Given the description of an element on the screen output the (x, y) to click on. 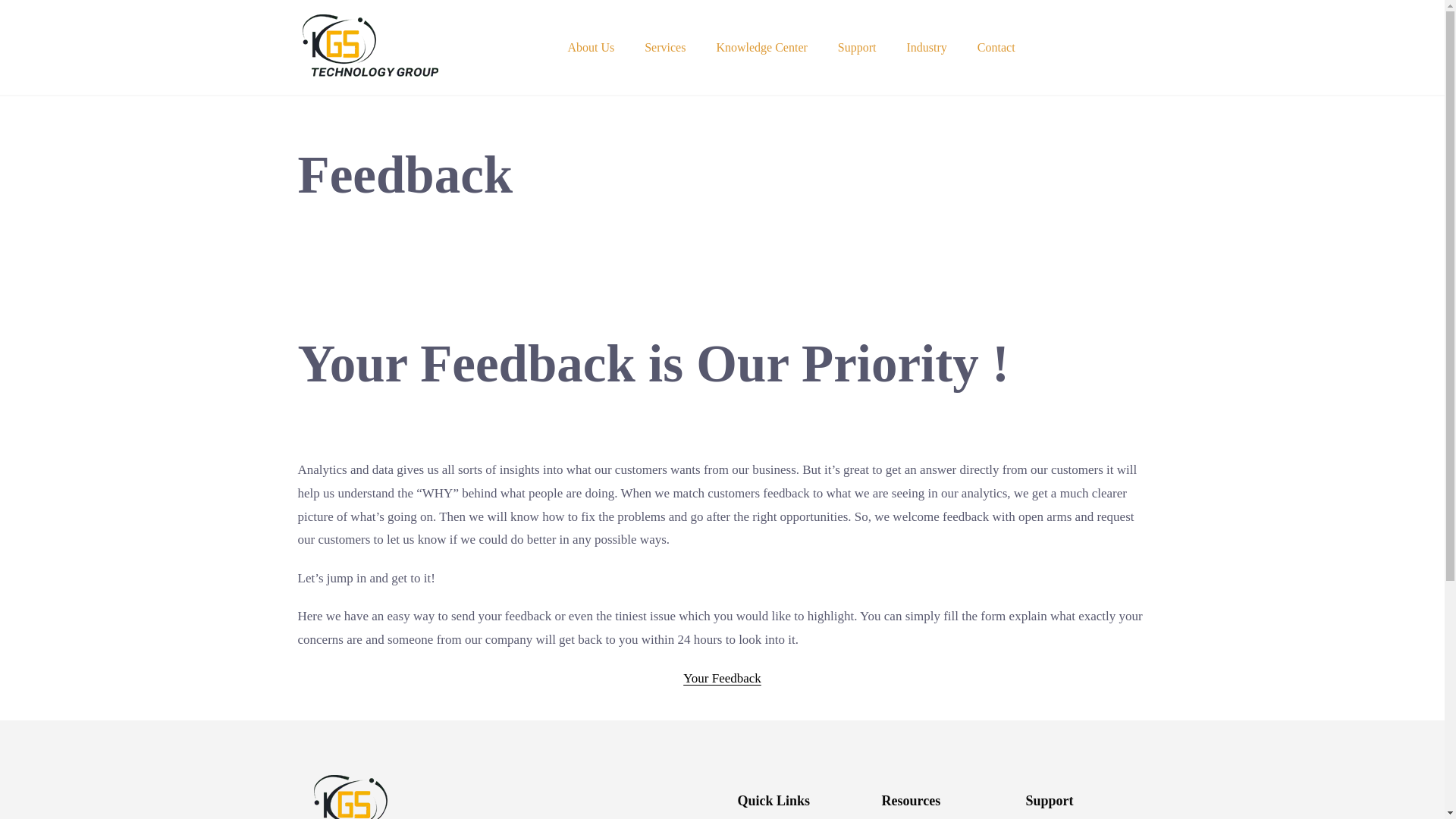
About Us (590, 47)
Services (664, 47)
Support (857, 47)
Knowledge Center (760, 47)
Industry (926, 47)
